Given the description of an element on the screen output the (x, y) to click on. 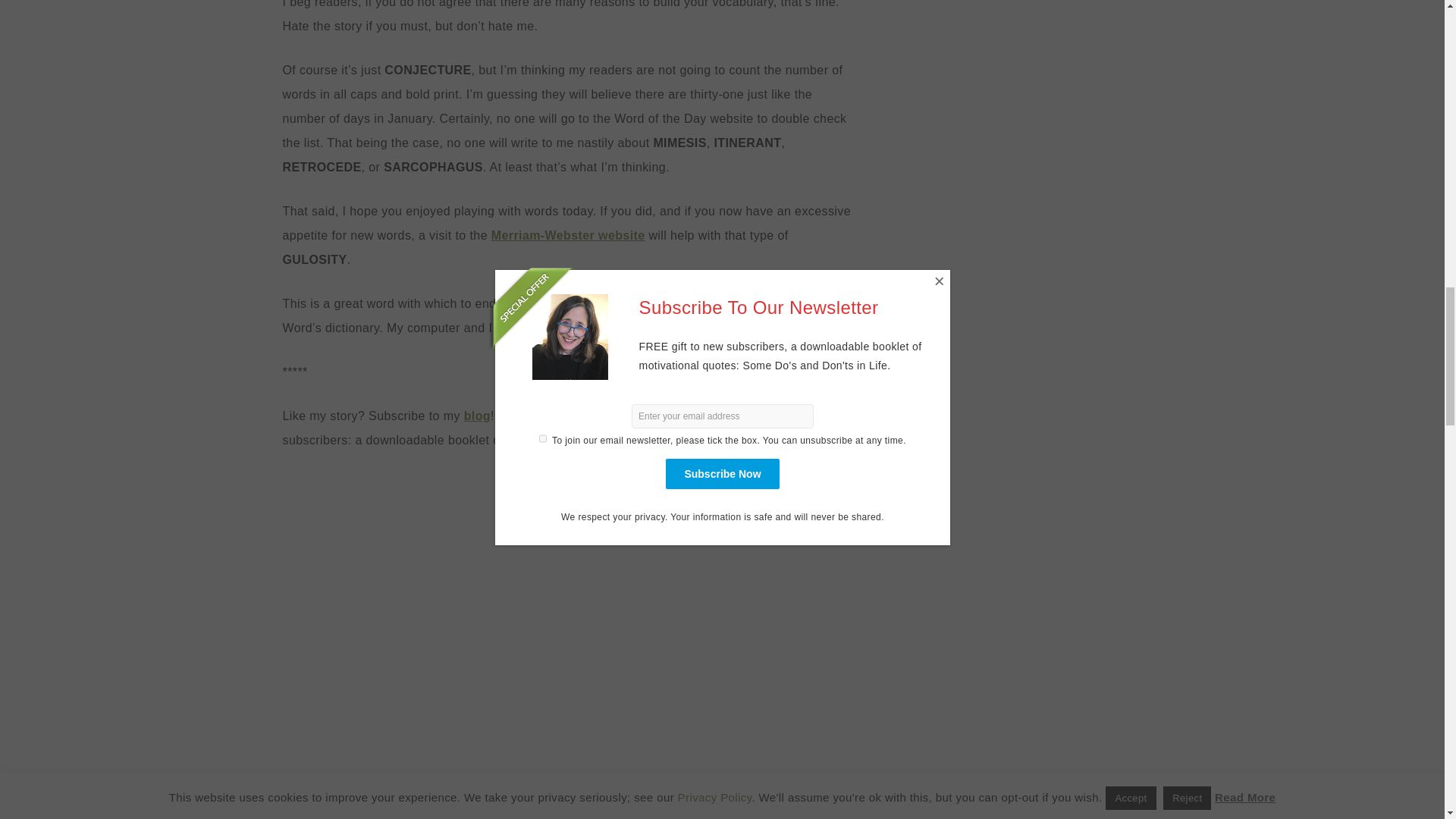
Merriam-Webster website (568, 235)
blog (477, 415)
